Given the description of an element on the screen output the (x, y) to click on. 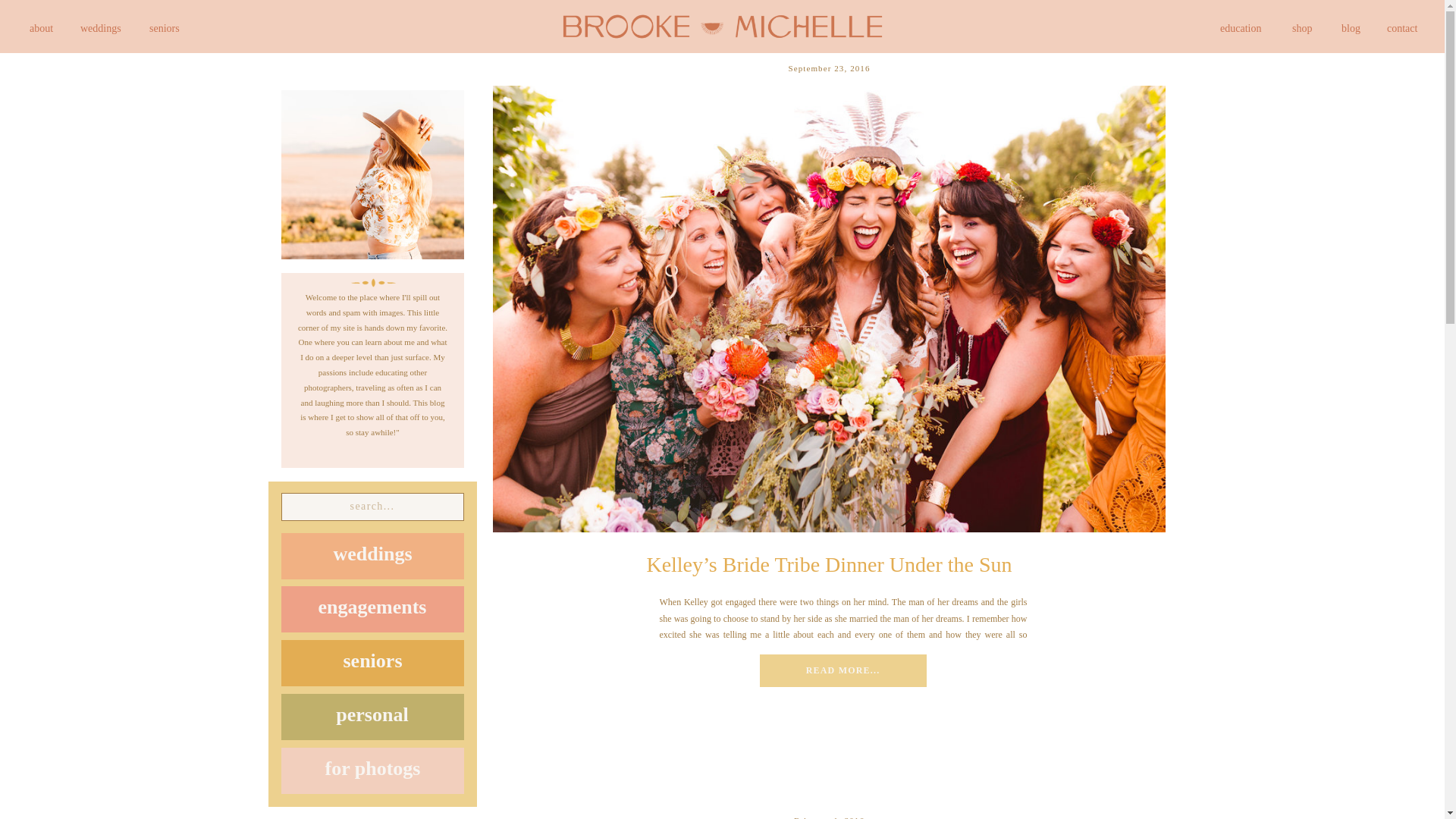
READ MORE... (842, 669)
shop (1307, 28)
weddings (109, 28)
for photogs (372, 770)
seniors (371, 663)
education (1256, 28)
about (47, 28)
blog (1355, 28)
seniors (170, 28)
contact (1408, 28)
personal (371, 716)
weddings (372, 556)
engagements (372, 609)
